Given the description of an element on the screen output the (x, y) to click on. 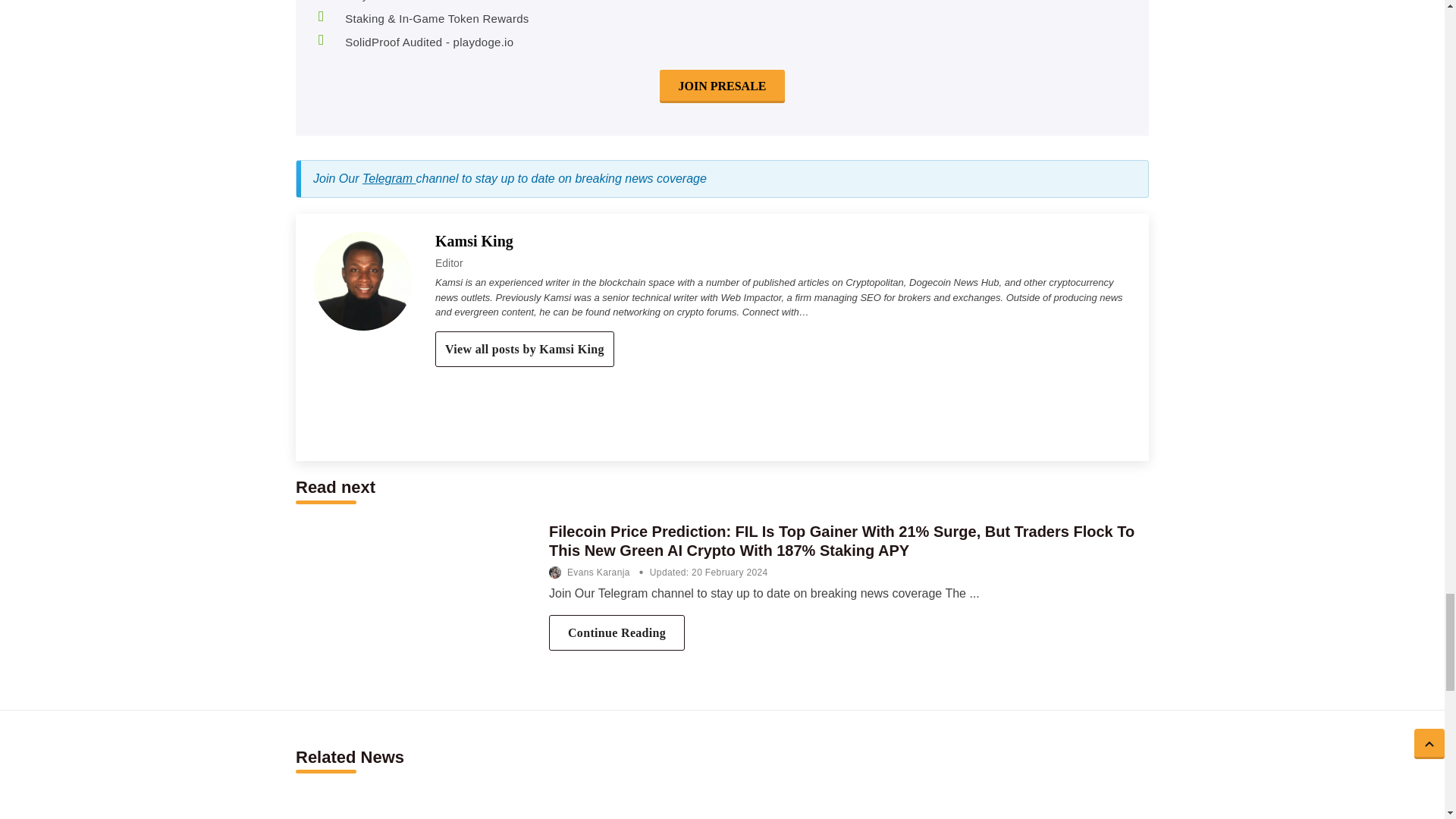
Start Trading (721, 86)
